Given the description of an element on the screen output the (x, y) to click on. 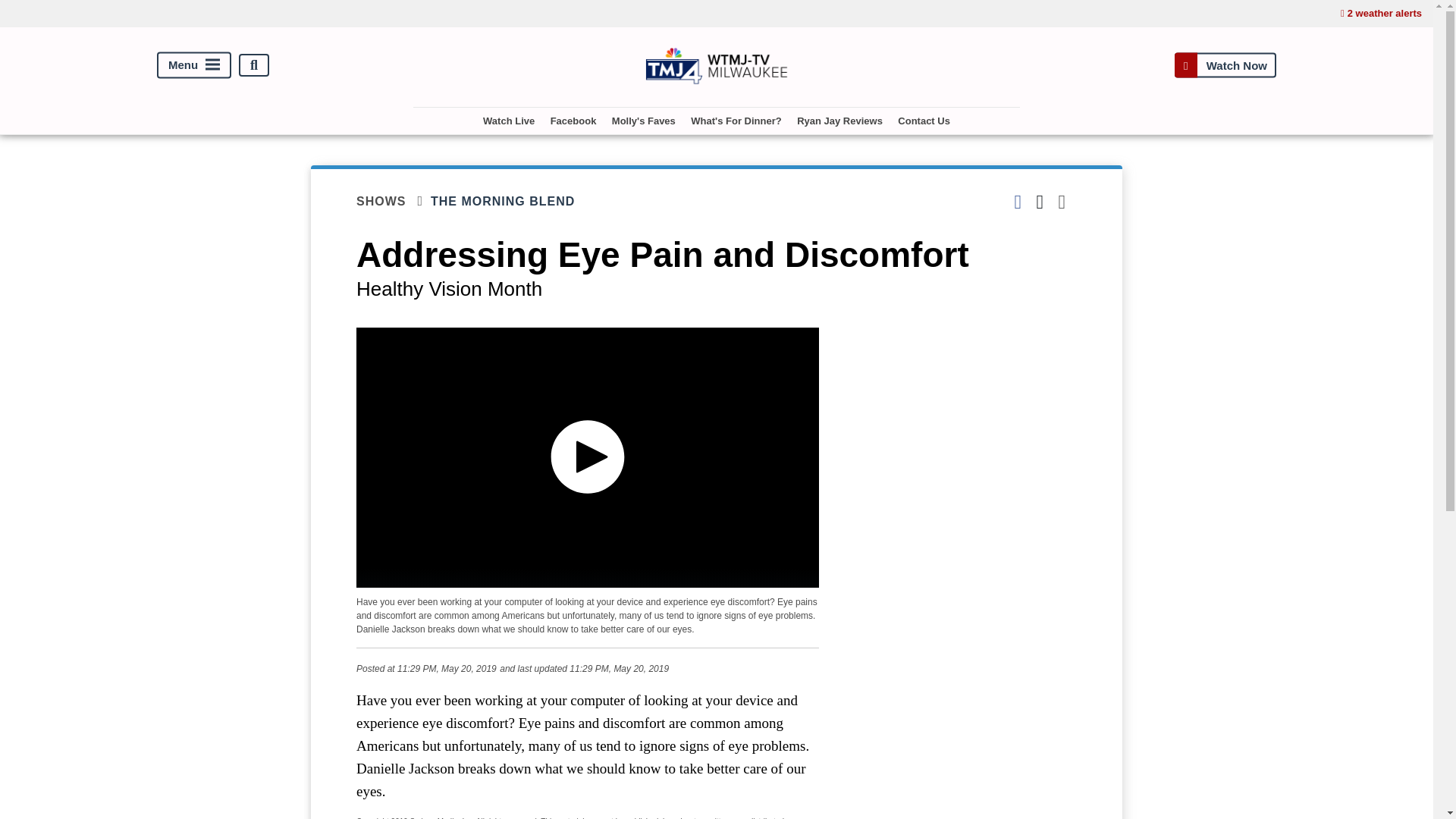
Menu (194, 65)
Watch Now (1224, 65)
